Given the description of an element on the screen output the (x, y) to click on. 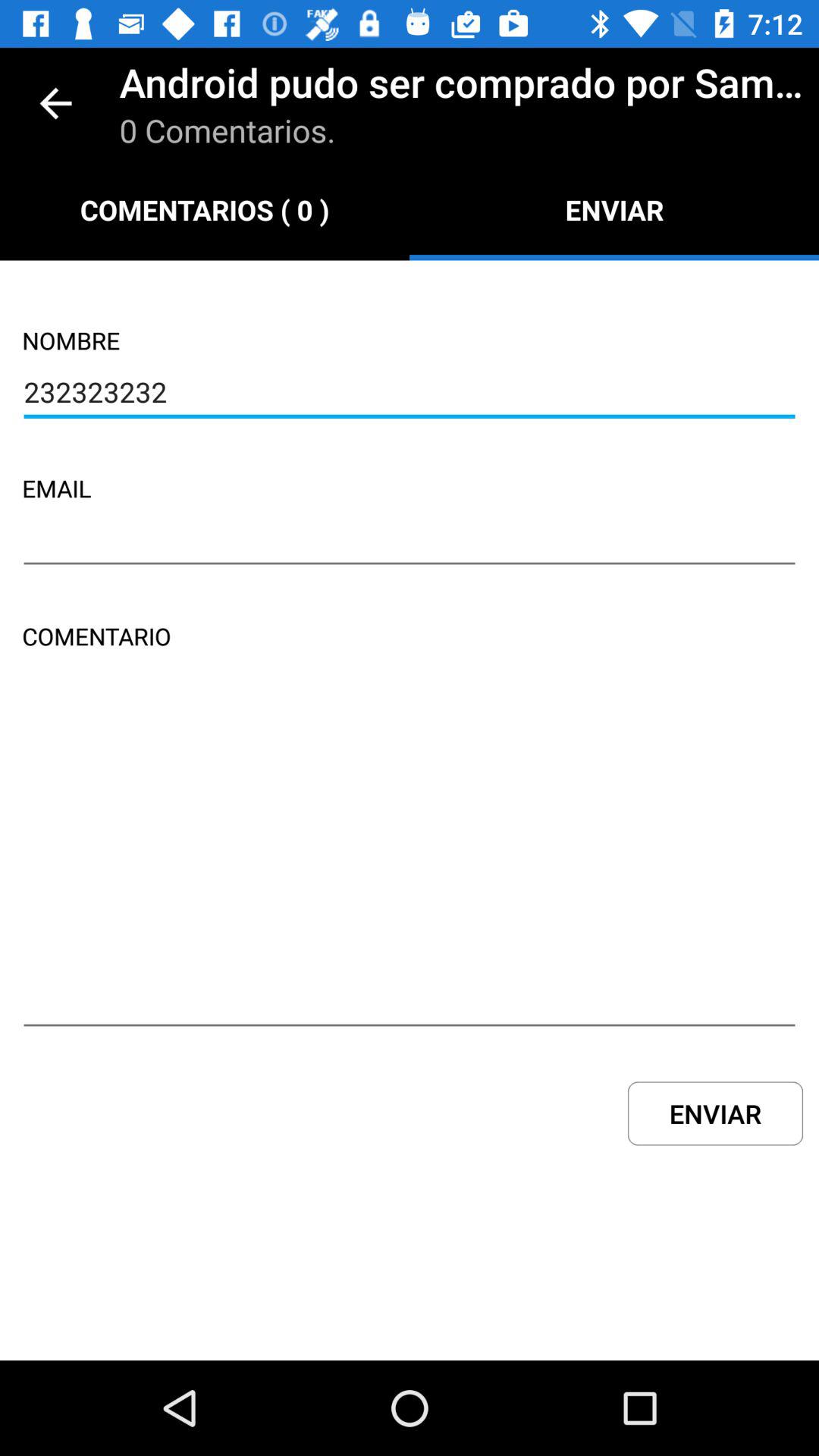
turn on the item above comentario item (409, 542)
